Given the description of an element on the screen output the (x, y) to click on. 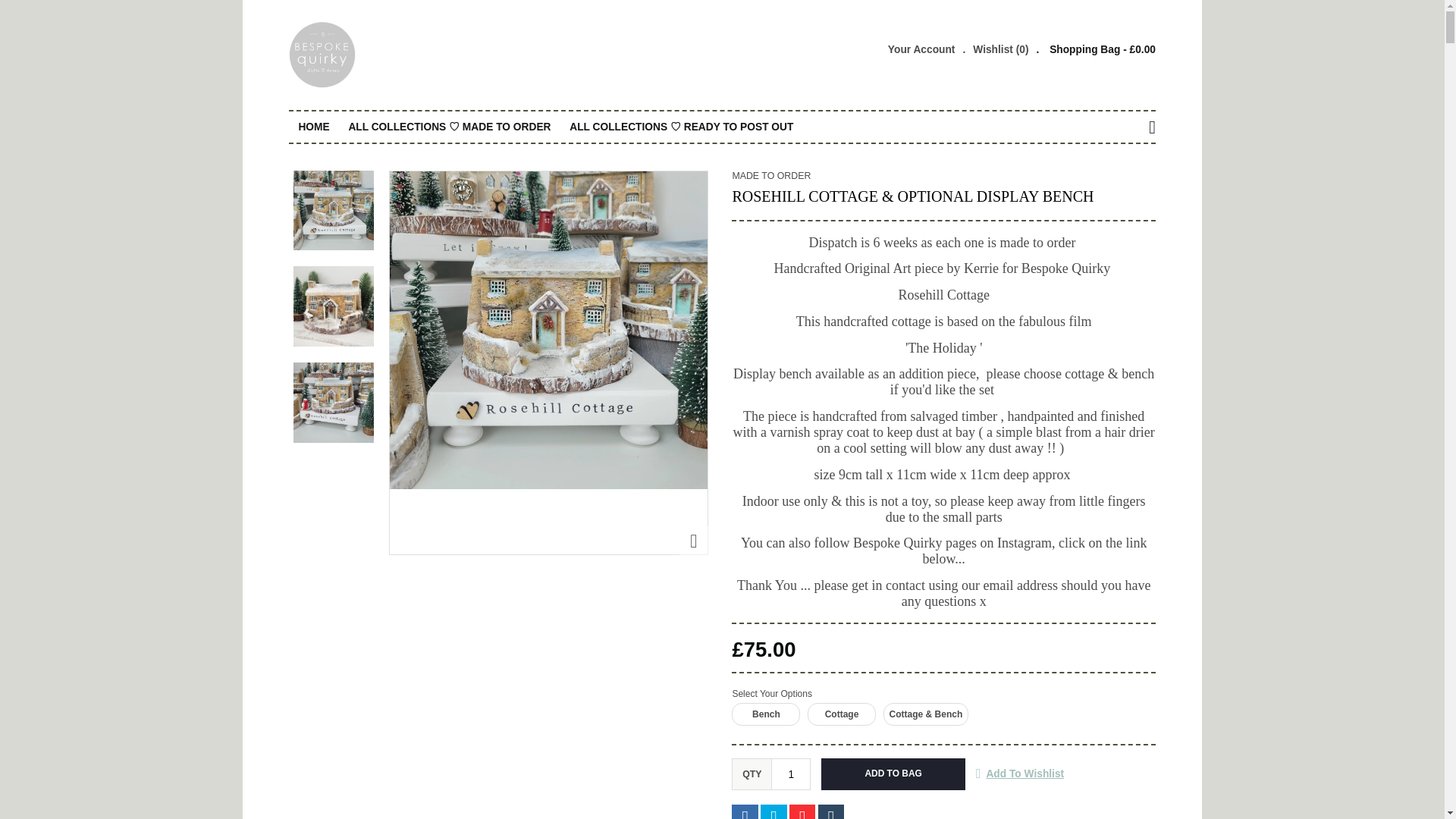
1 (790, 774)
